Given the description of an element on the screen output the (x, y) to click on. 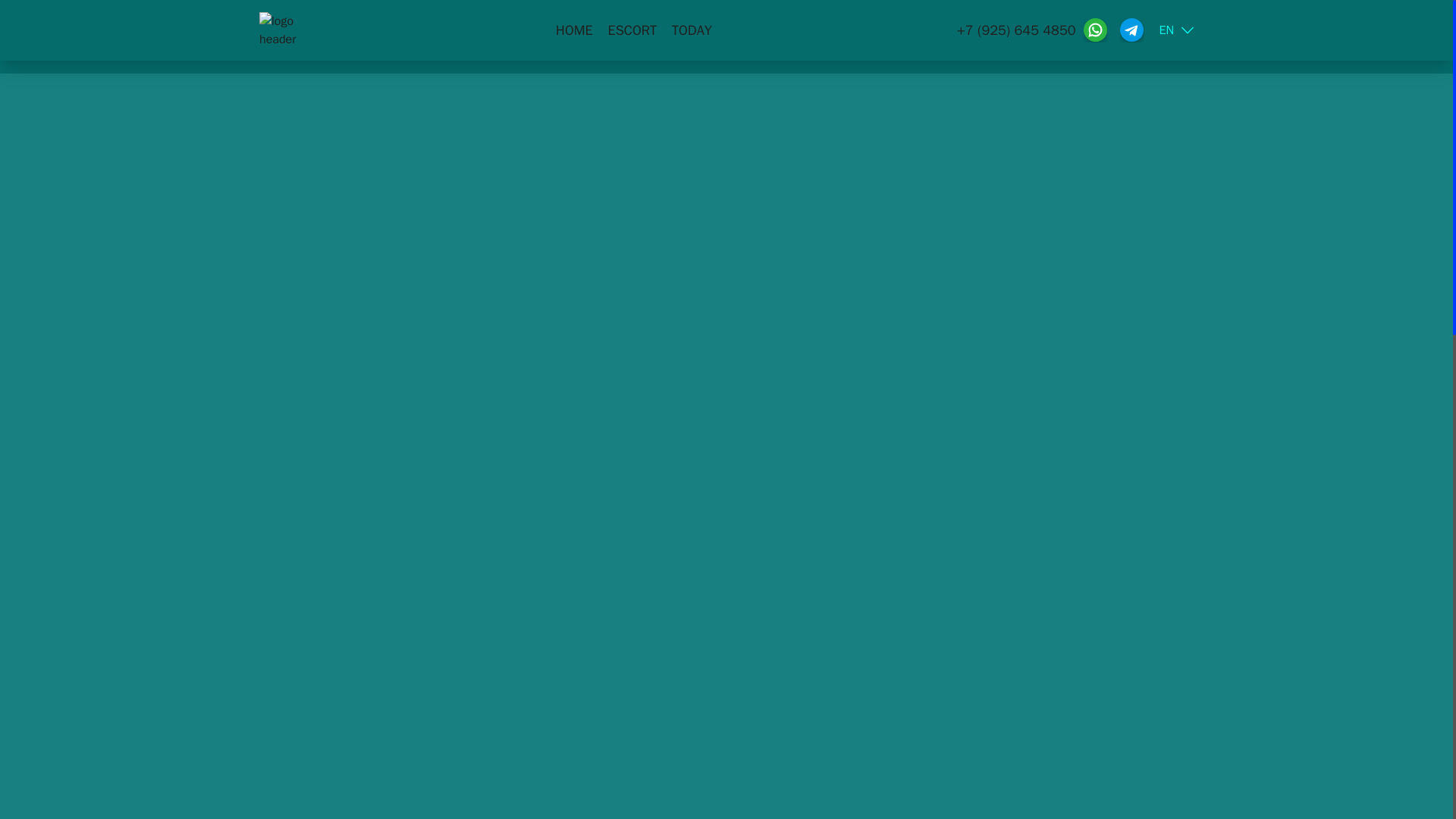
TODAY (691, 29)
HOME (573, 29)
ESCORT (631, 29)
